Given the description of an element on the screen output the (x, y) to click on. 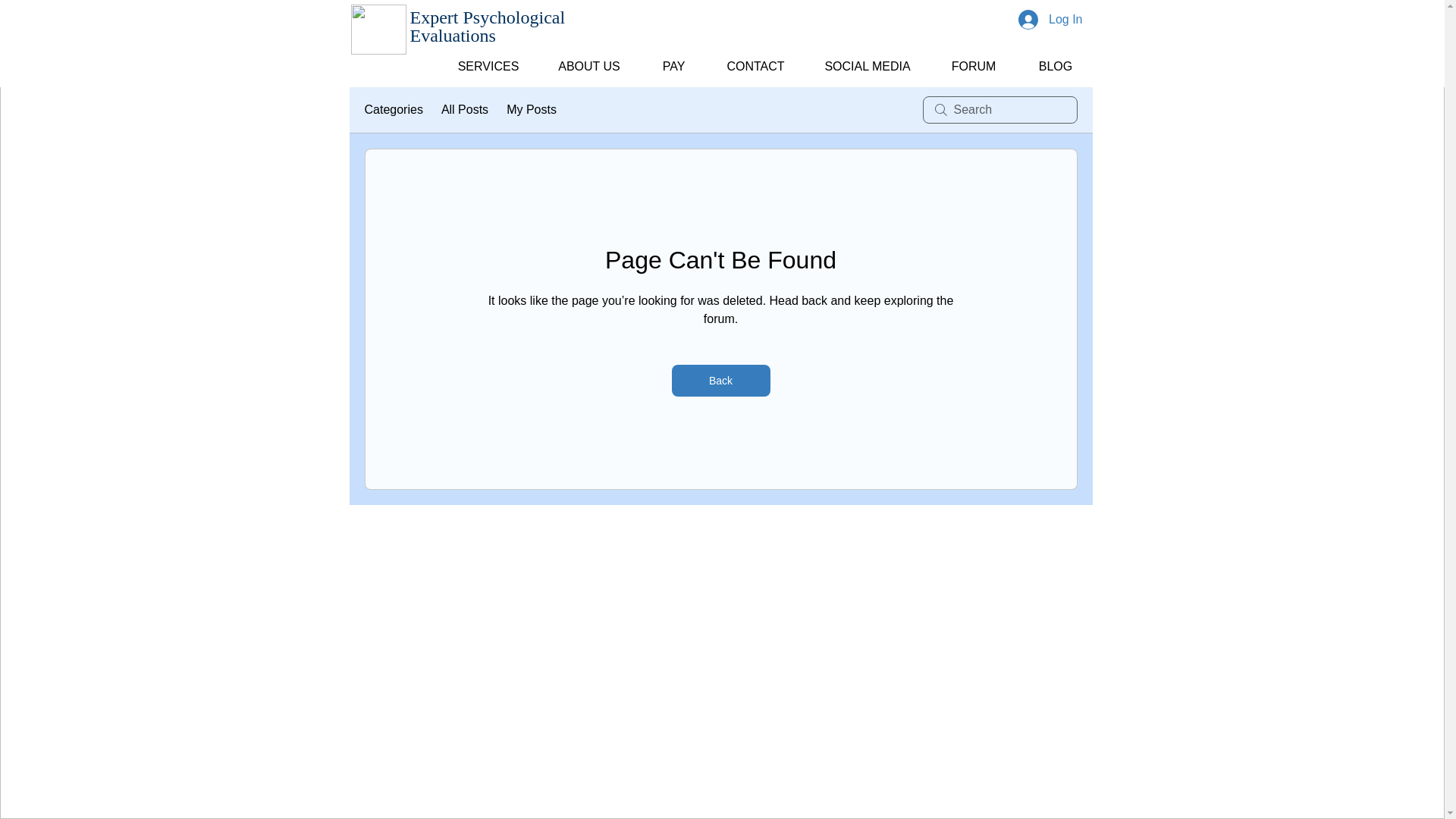
ABOUT US (588, 59)
All Posts (464, 109)
SERVICES (488, 59)
BLOG (1055, 59)
My Posts (531, 109)
Log In (1050, 19)
FORUM (973, 59)
Back (720, 380)
CONTACT (755, 59)
PAY (674, 59)
